Given the description of an element on the screen output the (x, y) to click on. 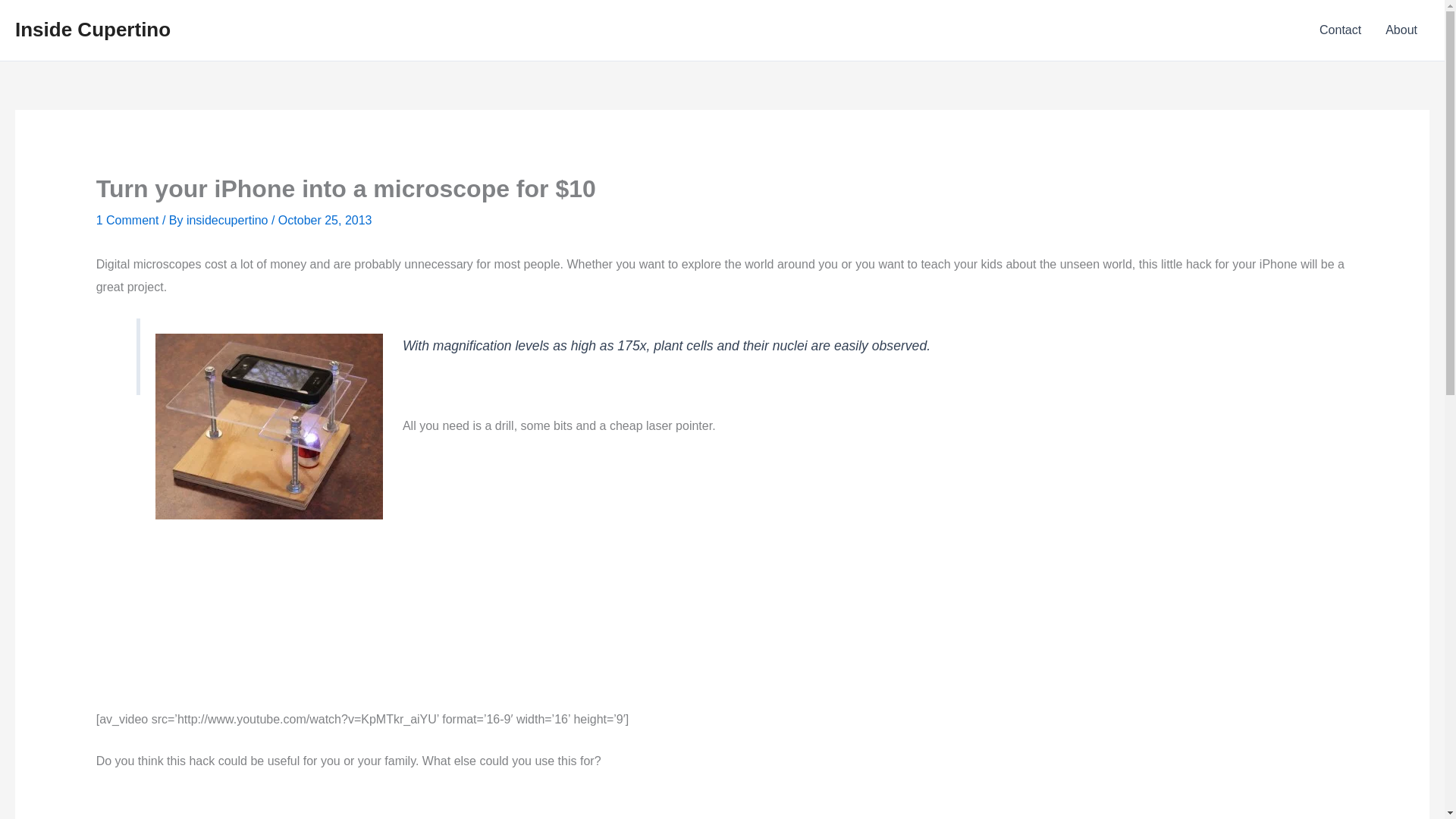
Contact (1340, 30)
About (1401, 30)
Inside Cupertino (92, 29)
insidecupertino (228, 219)
1 Comment (127, 219)
View all posts by insidecupertino (228, 219)
